Given the description of an element on the screen output the (x, y) to click on. 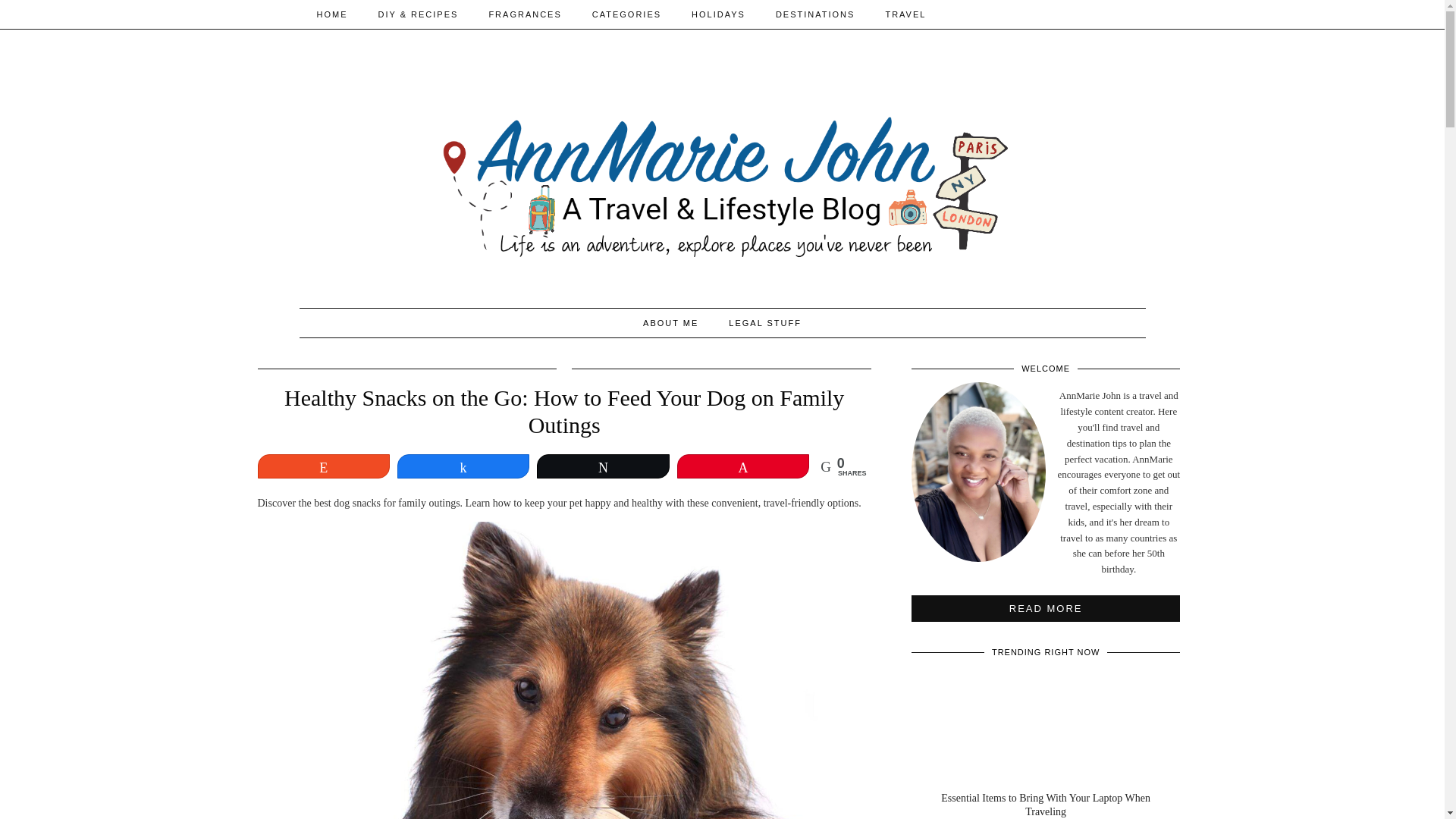
HOLIDAYS (718, 14)
CATEGORIES (626, 14)
FRAGRANCES (524, 14)
HOME (331, 14)
DESTINATIONS (814, 14)
